Given the description of an element on the screen output the (x, y) to click on. 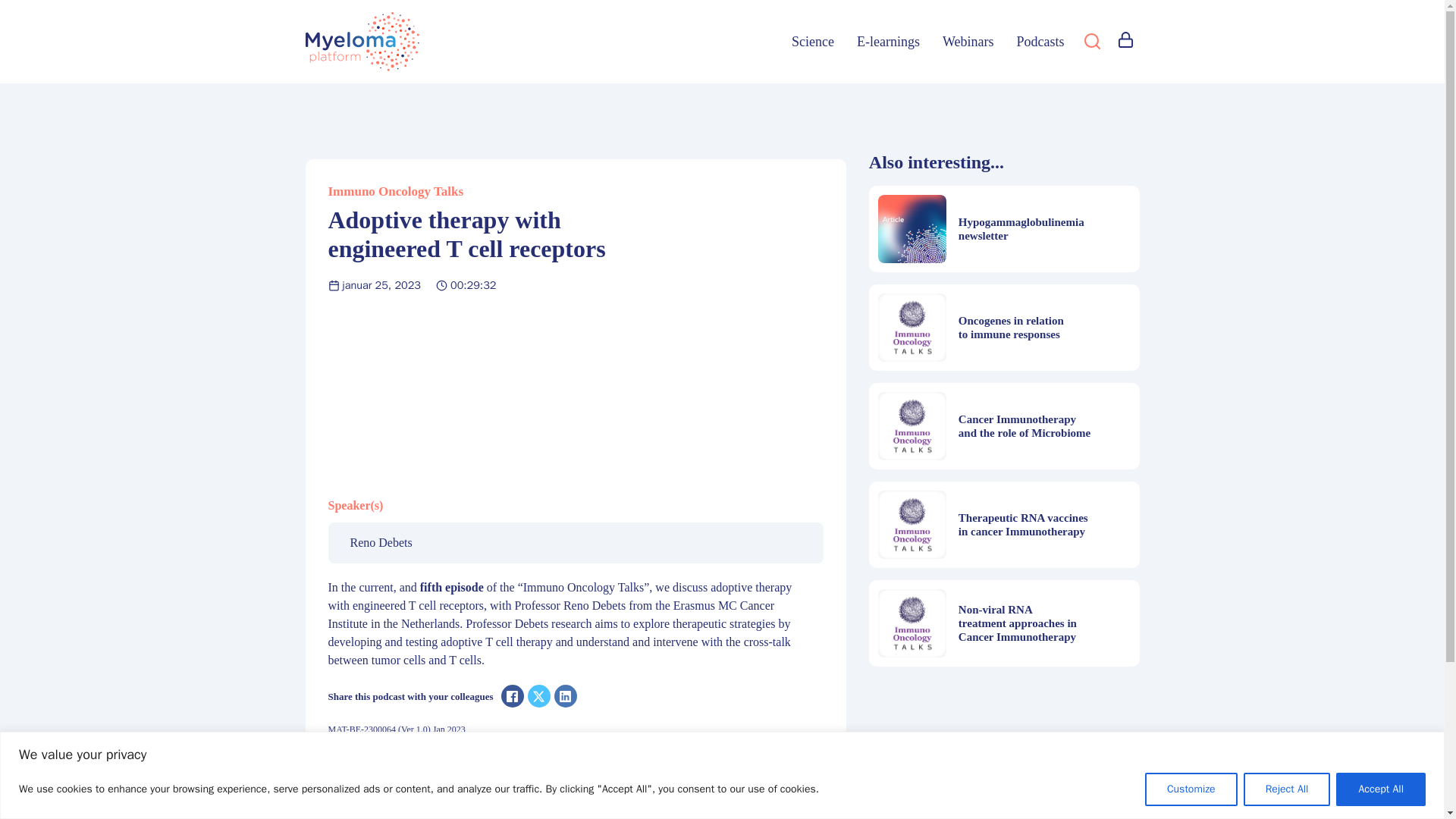
E-learnings (888, 41)
Customize (1190, 788)
Podcasts (1040, 41)
Webinars (968, 41)
Science (813, 41)
Adoptive therapy with engineered T cell receptors (574, 392)
Reject All (1286, 788)
Accept All (1380, 788)
